Given the description of an element on the screen output the (x, y) to click on. 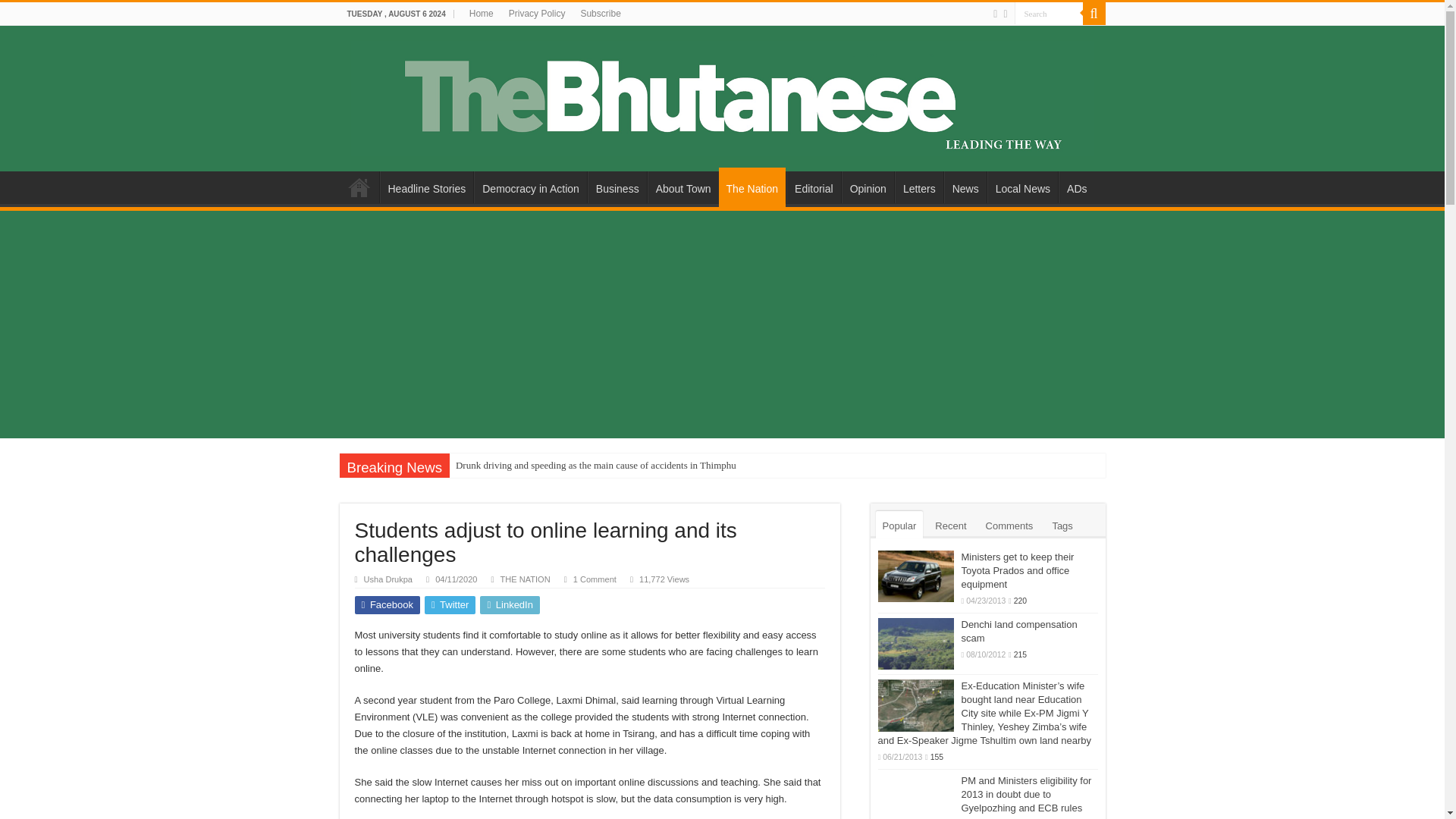
HOME (358, 187)
Editorial (813, 187)
Democracy in Action (530, 187)
Headline Stories (425, 187)
Search (1048, 13)
About Town (683, 187)
Home (480, 13)
News (965, 187)
Letters (919, 187)
Search (1094, 13)
ADs (1076, 187)
Subscribe (599, 13)
